Given the description of an element on the screen output the (x, y) to click on. 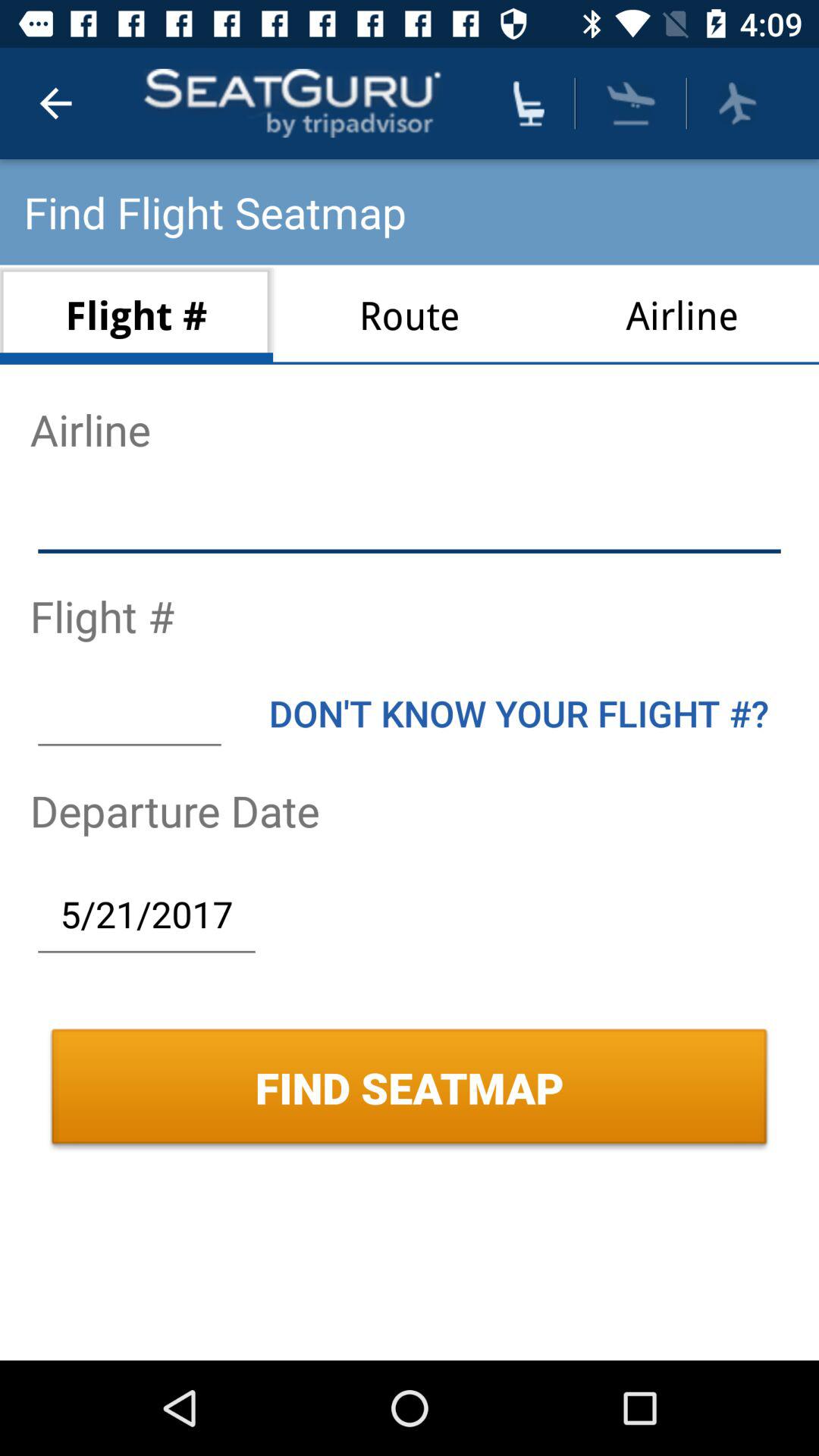
turn off the icon below flight # icon (129, 712)
